Given the description of an element on the screen output the (x, y) to click on. 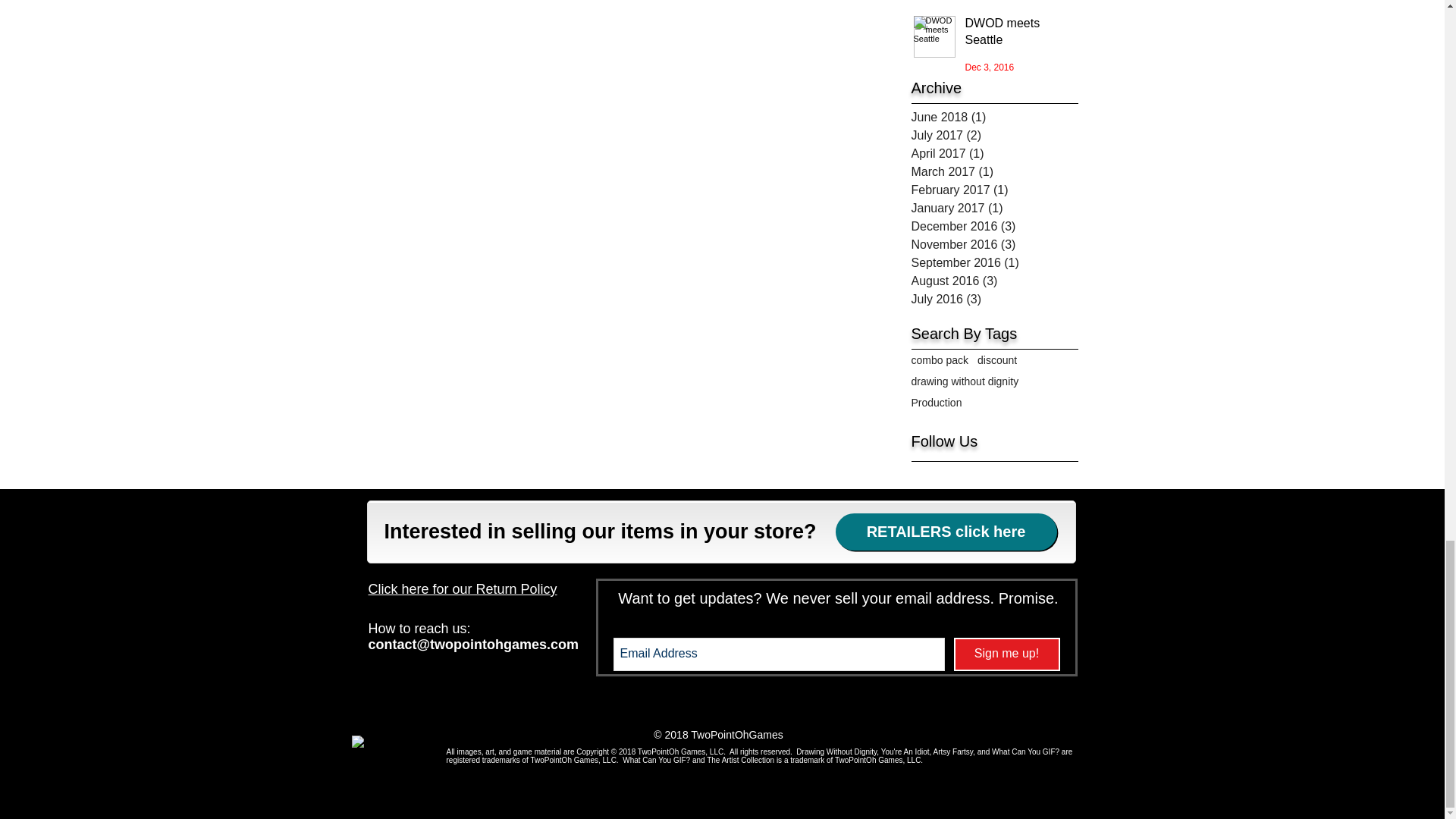
discount (996, 359)
combo pack (939, 359)
DWOD meets Seattle (1012, 35)
drawing without dignity (965, 381)
Dec 3, 2016 (988, 67)
